Given the description of an element on the screen output the (x, y) to click on. 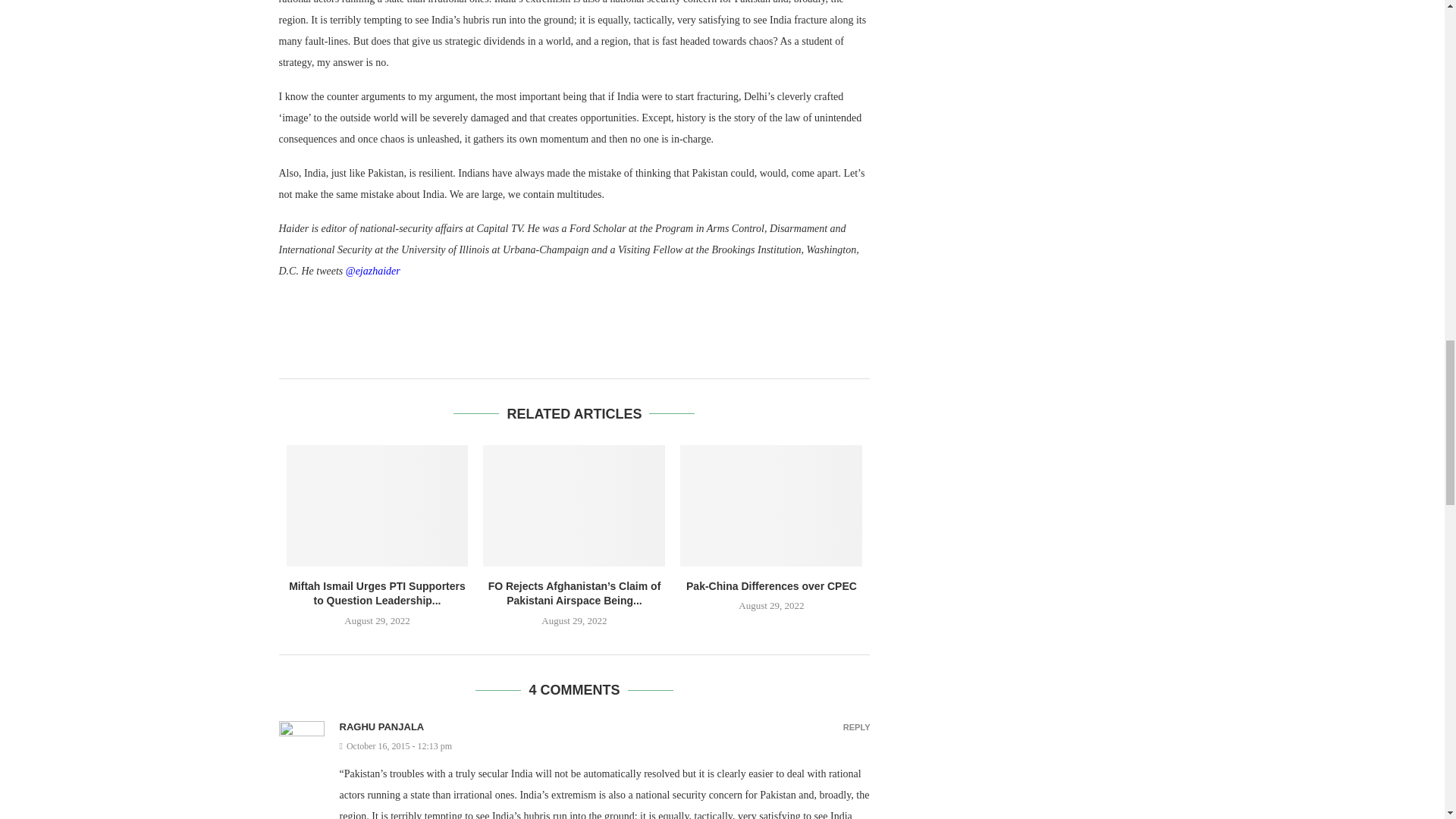
Pak-China Differences over CPEC (771, 585)
Pak-China Differences over CPEC (770, 505)
Friday, October 16, 2015, 12:13 pm (604, 746)
RAGHU PANJALA (382, 726)
REPLY (856, 727)
Miftah Ismail Urges PTI Supporters to Question Leadership... (376, 593)
